Given the description of an element on the screen output the (x, y) to click on. 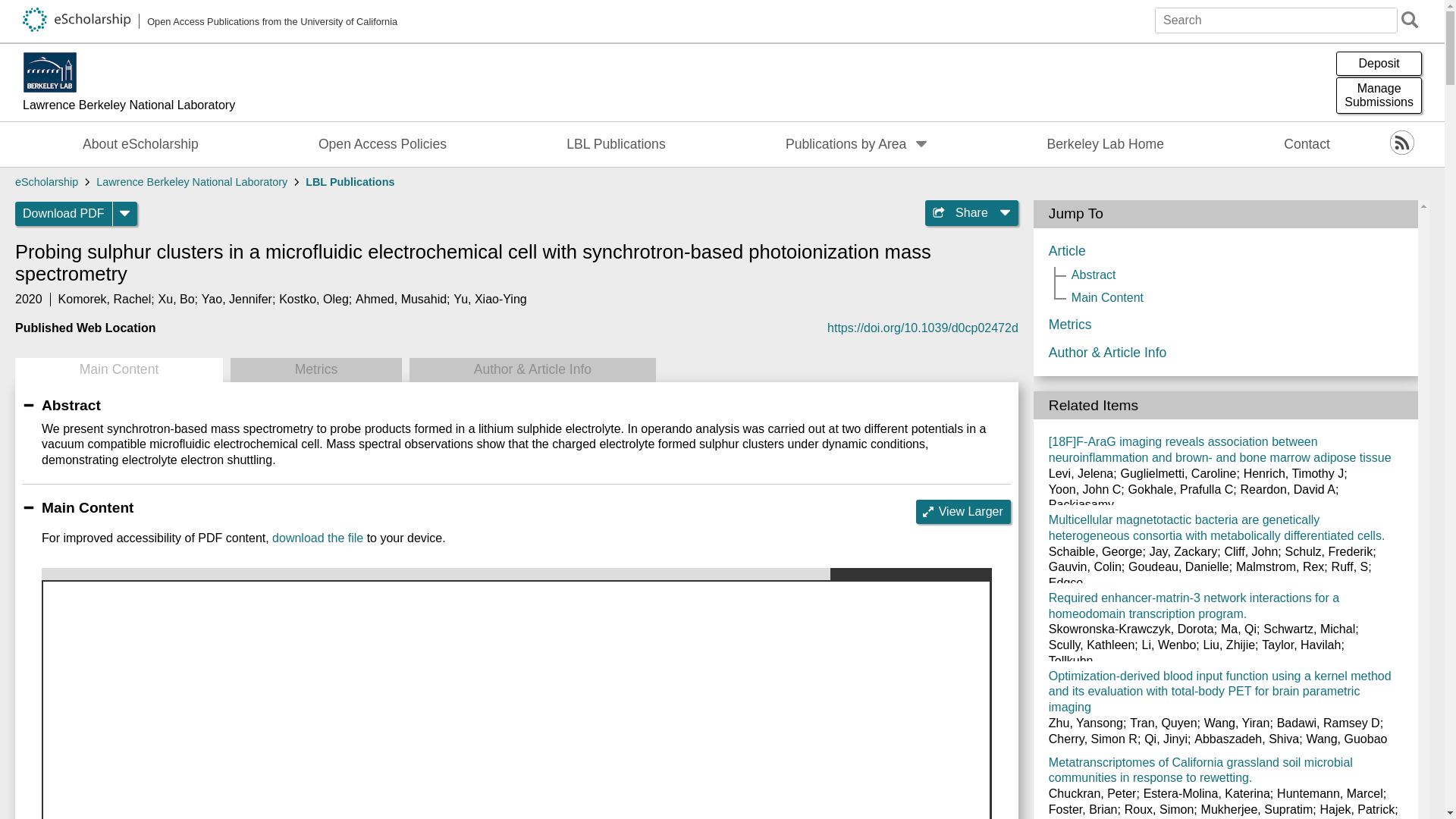
Xu, Bo (176, 298)
Berkeley Lab Home (1105, 143)
Komorek, Rachel (104, 298)
eScholarship (46, 182)
LBL Publications (615, 143)
Yu, Xiao-Ying (488, 298)
Lawrence Berkeley National Laboratory (1379, 94)
Metrics (191, 182)
Open Access Publications from the University of California (315, 369)
About eScholarship (210, 21)
Download PDF (140, 143)
Open Access Policies (63, 213)
Main Content (382, 143)
Yao, Jennifer (118, 369)
